Given the description of an element on the screen output the (x, y) to click on. 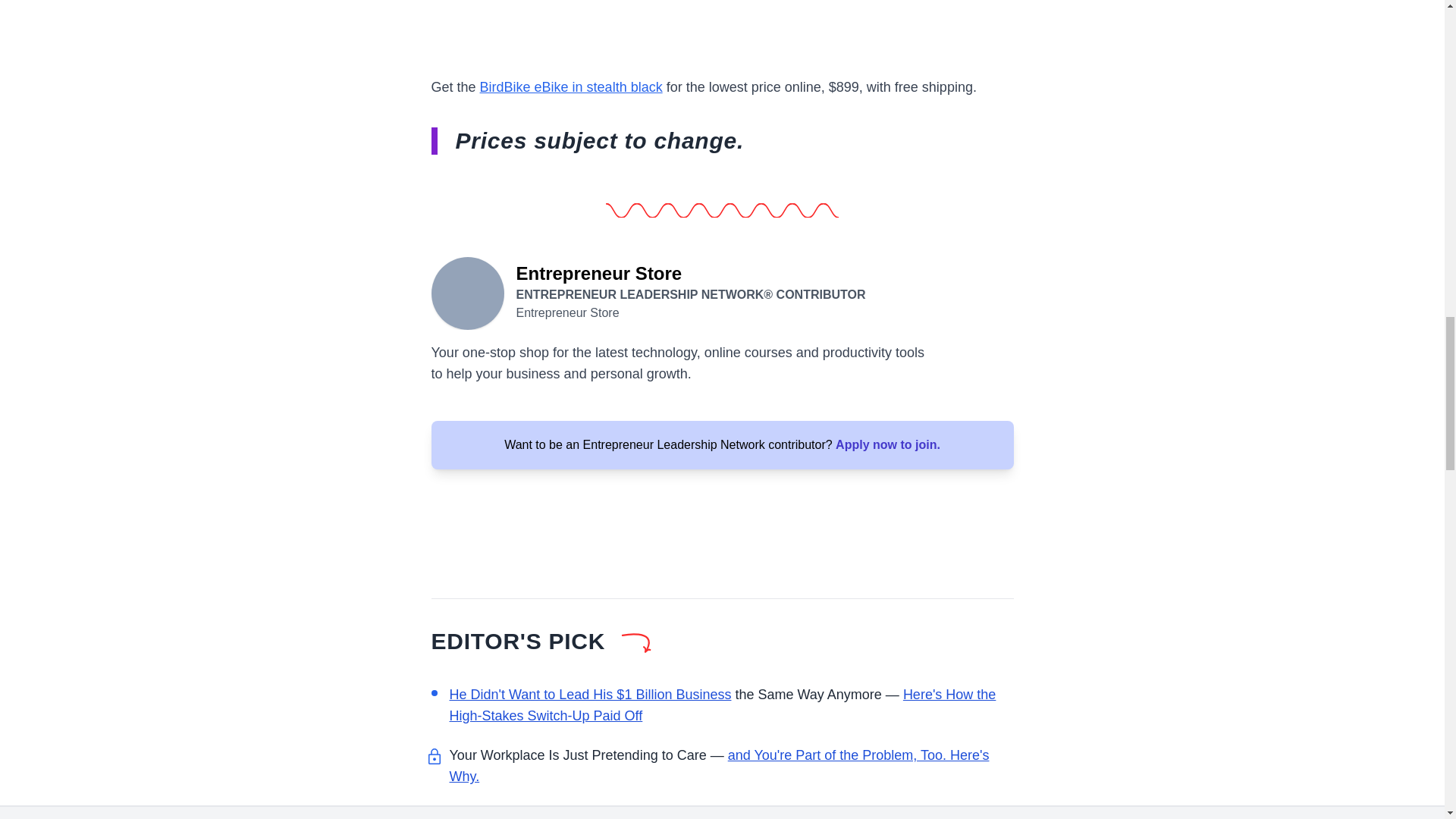
Entrepreneur Store (466, 291)
